Given the description of an element on the screen output the (x, y) to click on. 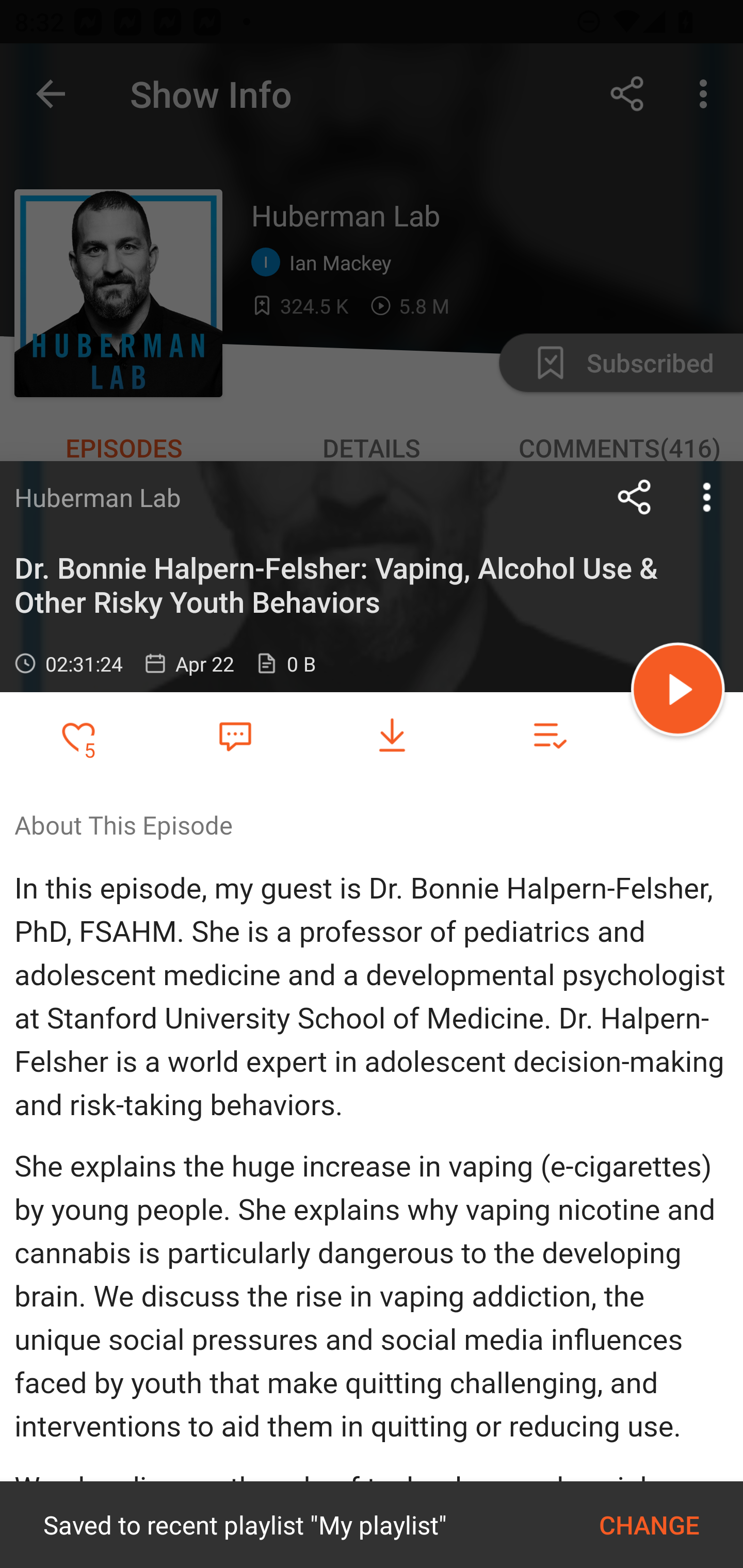
Share (634, 496)
more options (706, 496)
Play (677, 692)
Favorite (234, 735)
Add to Favorites (78, 735)
Download (391, 735)
Add to playlist (548, 735)
Saved to recent playlist "My playlist" CHANGE (371, 1524)
CHANGE (648, 1524)
